Given the description of an element on the screen output the (x, y) to click on. 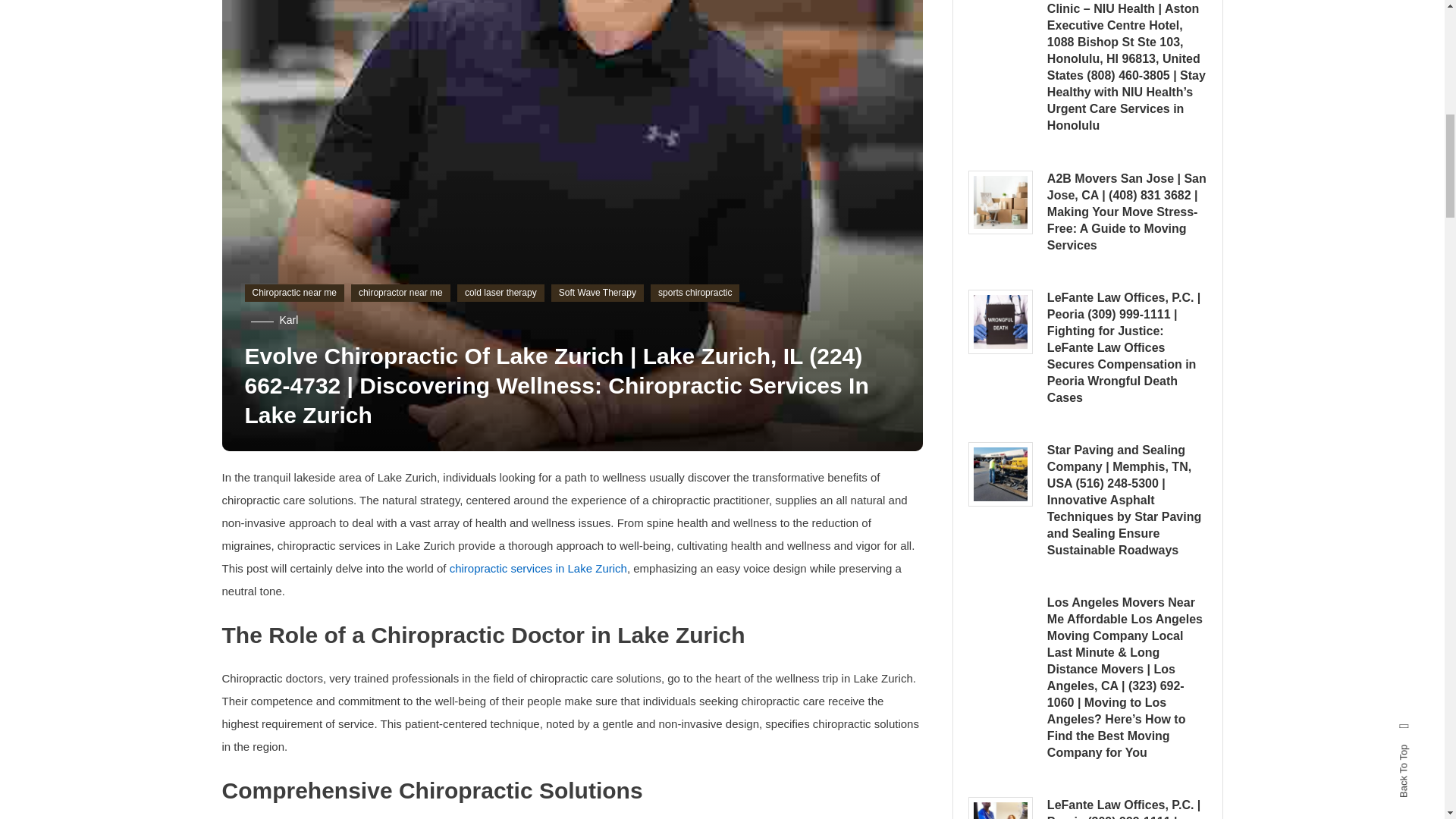
cold laser therapy (500, 293)
chiropractor near me (399, 293)
Chiropractic near me (293, 293)
